Given the description of an element on the screen output the (x, y) to click on. 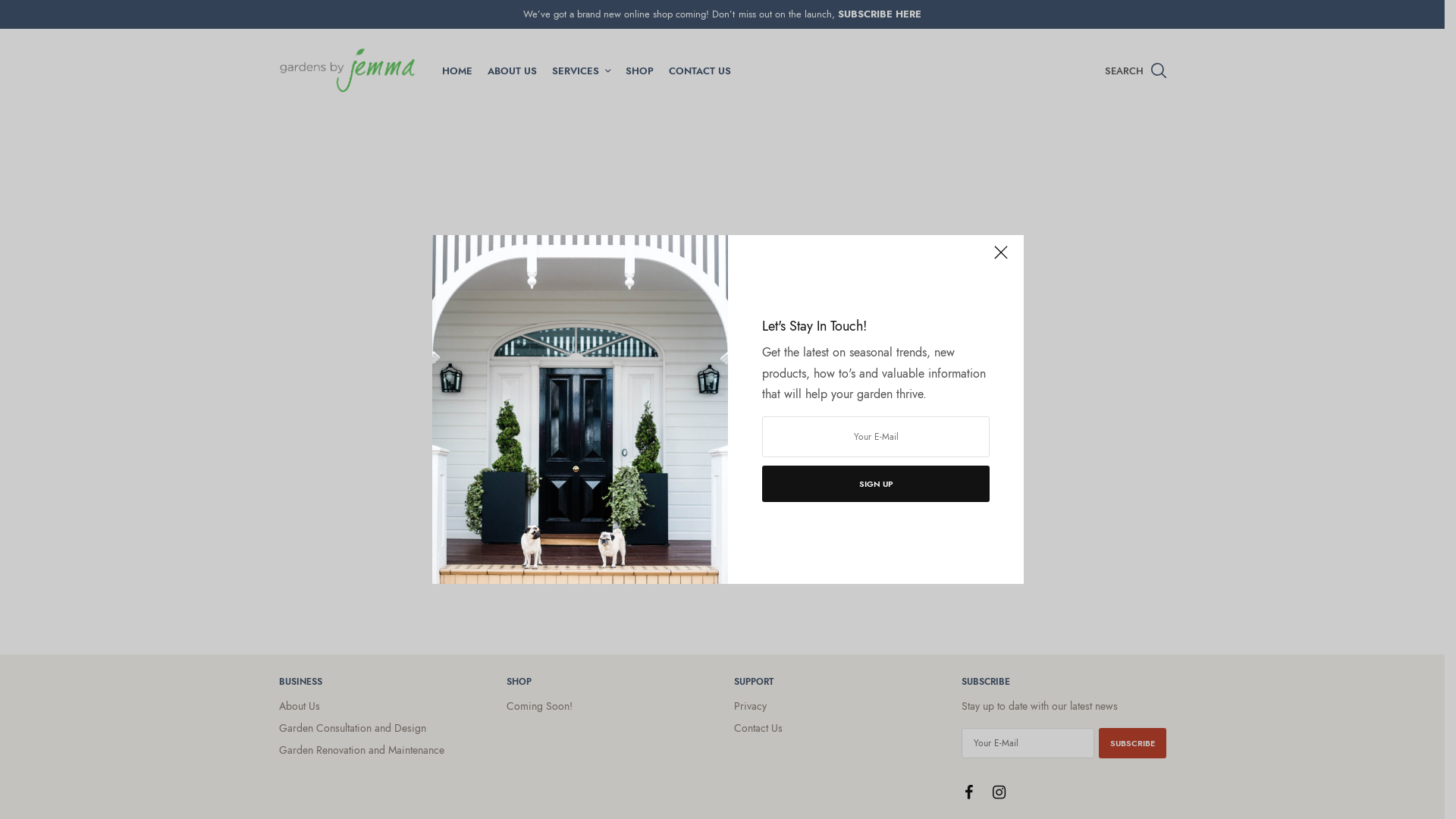
Close (Esc) Element type: hover (1000, 259)
SIGN UP Element type: text (875, 483)
Gardens By Jemma | Brisbane Garden Design and Maintenance Element type: hover (347, 70)
Garden Renovation and Maintenance Element type: text (361, 748)
SUBSCRIBE Element type: text (1131, 742)
SUBSCRIBE HERE Element type: text (879, 13)
Coming Soon! Element type: text (539, 705)
About Us Element type: text (299, 705)
HOME Element type: text (456, 70)
BACK TO HOME Element type: text (722, 413)
CONTACT US Element type: text (699, 70)
Garden Consultation and Design Element type: text (352, 726)
SHOP Element type: text (638, 70)
Search Element type: text (1138, 120)
Contact Us Element type: text (758, 726)
Privacy Element type: text (750, 705)
ABOUT US Element type: text (511, 70)
SERVICES Element type: text (581, 70)
